Given the description of an element on the screen output the (x, y) to click on. 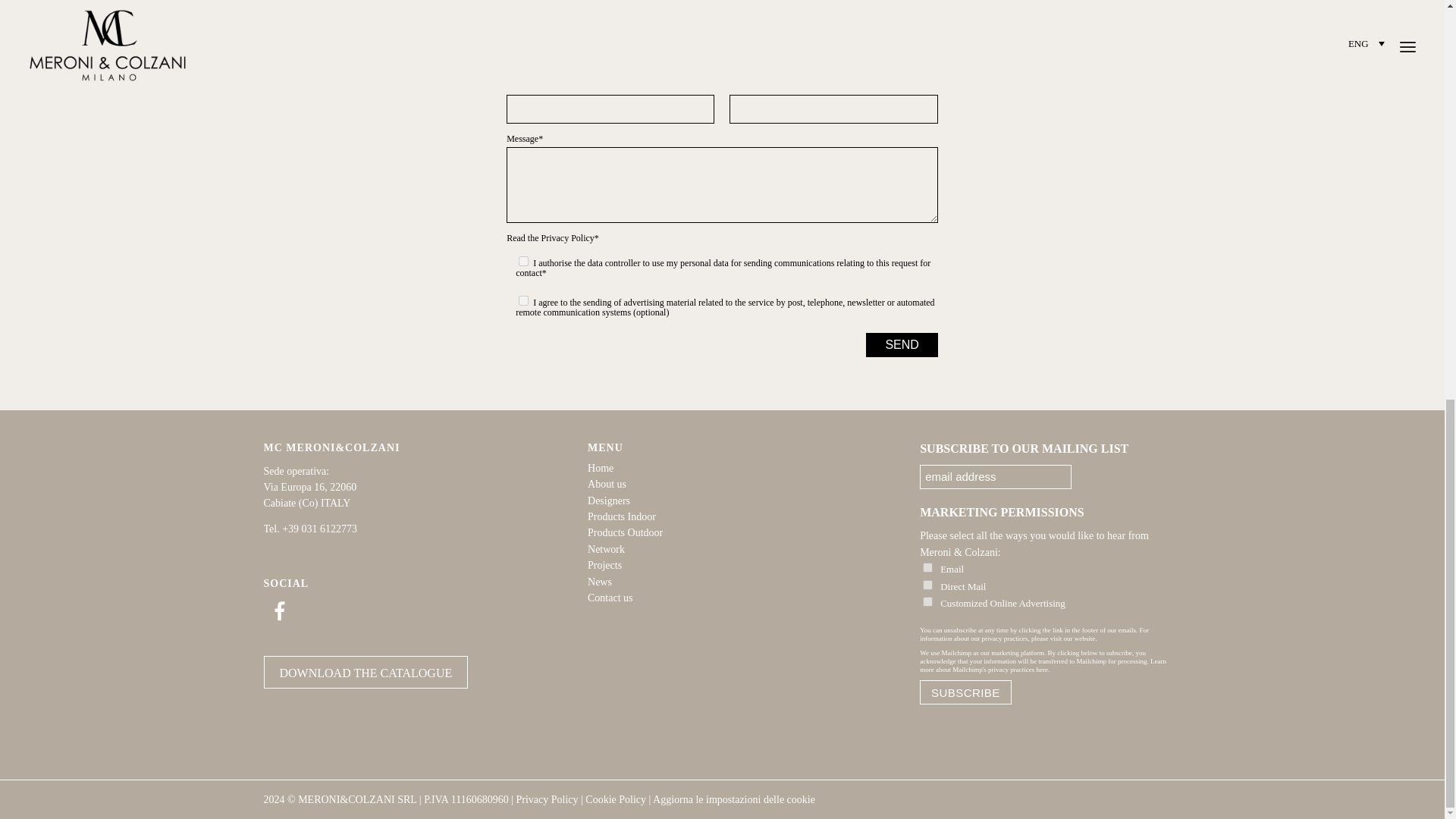
1 (523, 261)
Y (928, 601)
SUBSCRIBE (965, 692)
Privacy Policy (567, 237)
SEND (901, 344)
1 (523, 300)
Y (928, 567)
Y (928, 584)
